Given the description of an element on the screen output the (x, y) to click on. 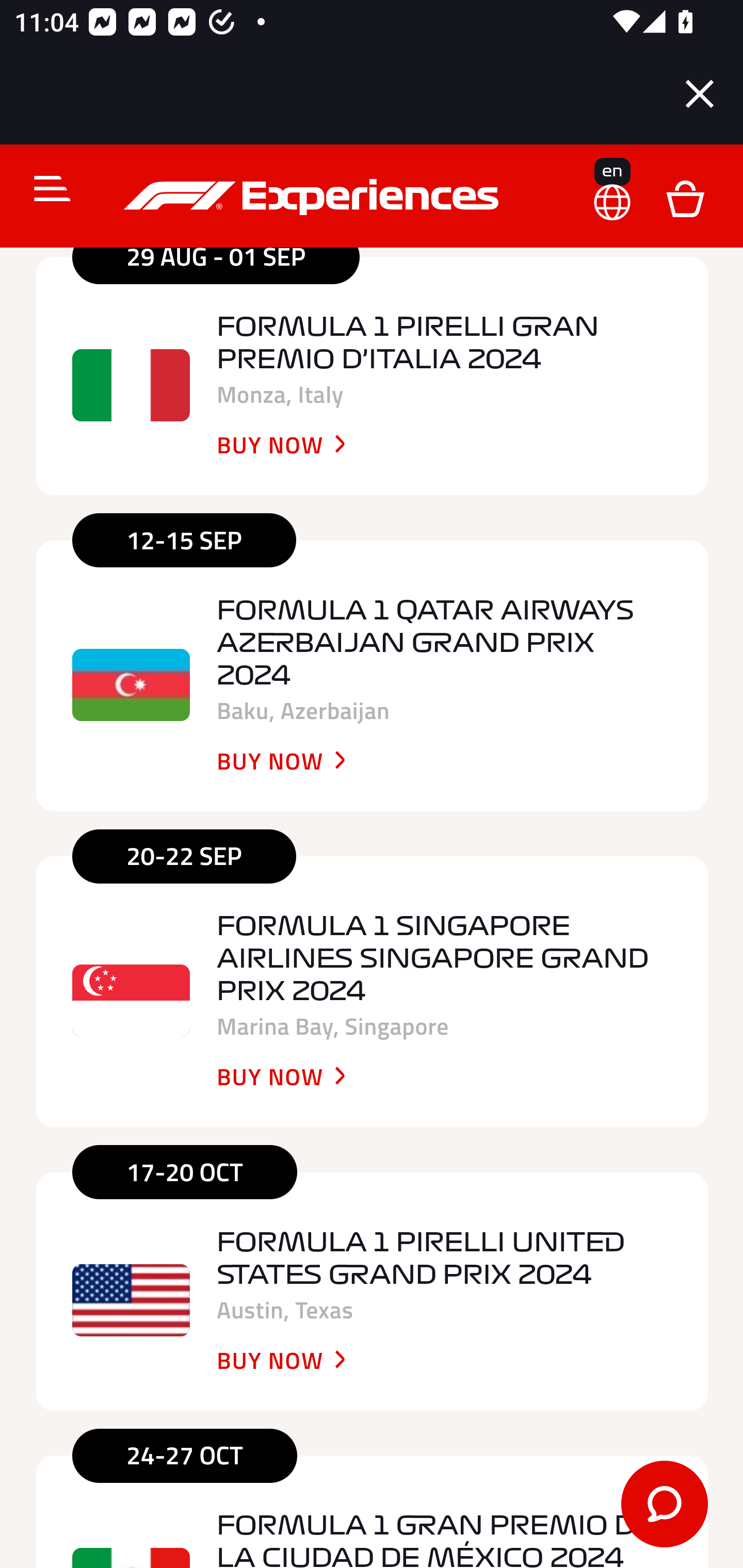
Close (699, 93)
Toggle navigation C (43, 190)
D (684, 198)
f1experiences (313, 197)
